Given the description of an element on the screen output the (x, y) to click on. 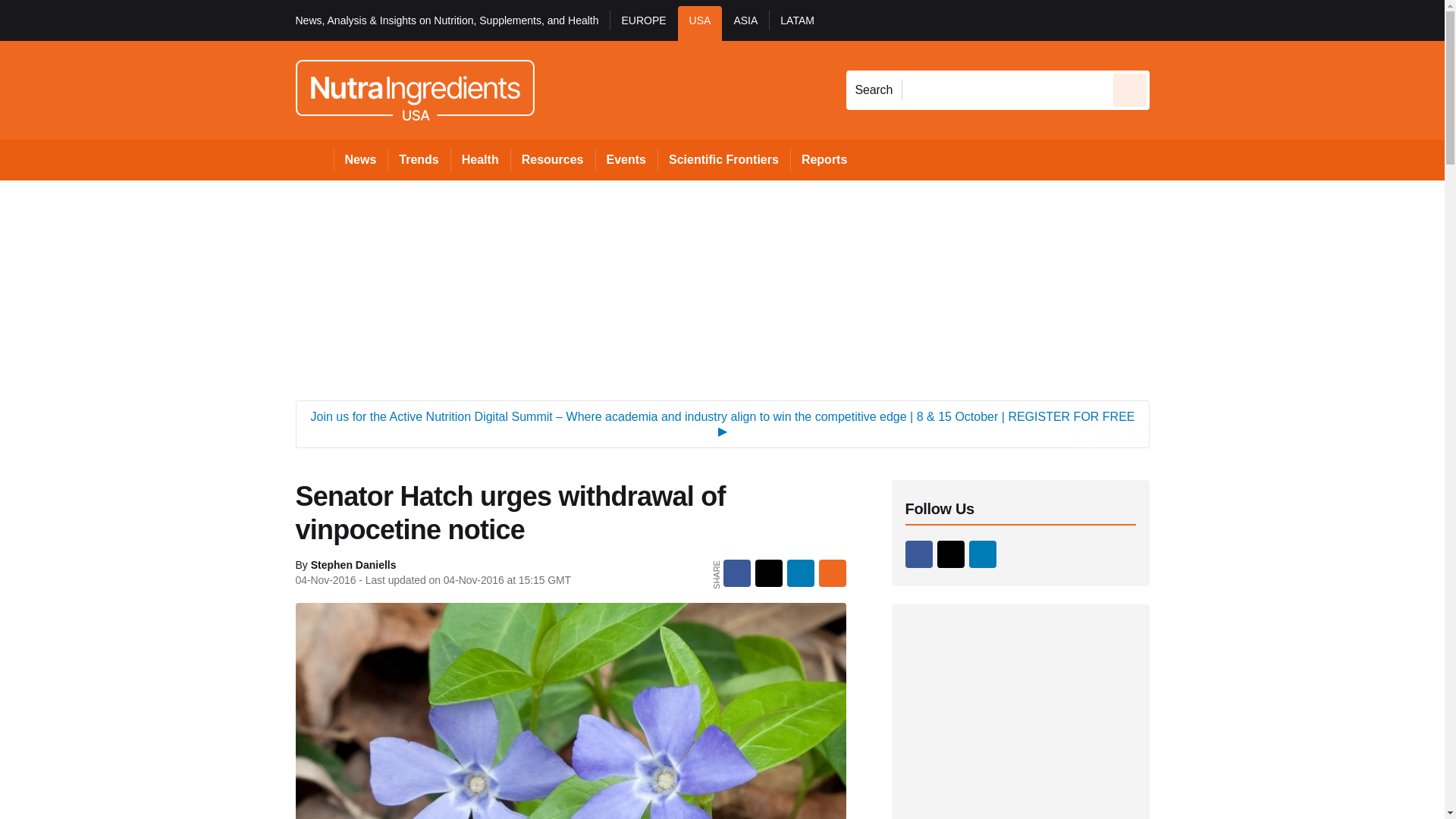
Sign out (1174, 20)
My account (1256, 20)
Trends (418, 159)
SUBSCRIBE (1318, 20)
SUBSCRIBE (1362, 20)
LATAM (796, 22)
ASIA (745, 22)
Home (313, 159)
NutraIngredients USA (414, 89)
